Given the description of an element on the screen output the (x, y) to click on. 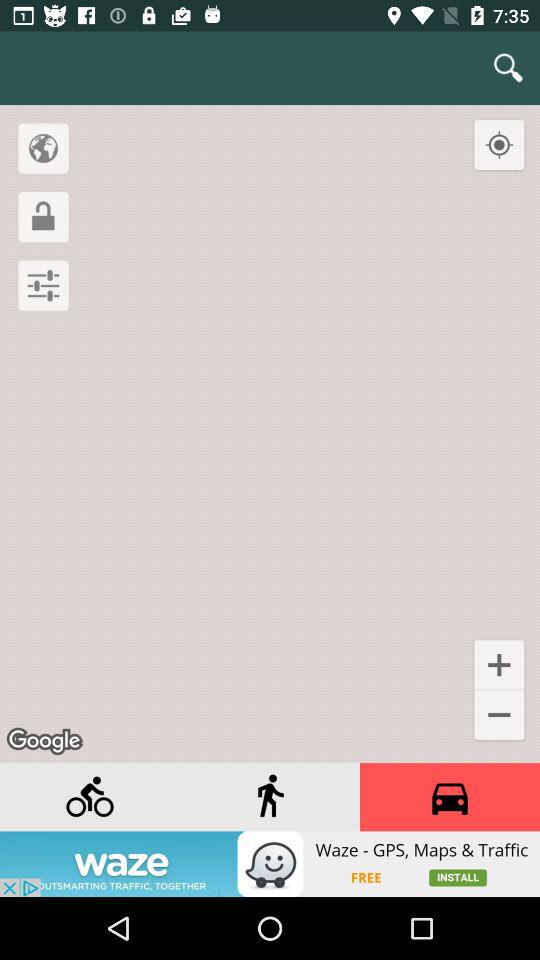
car (450, 797)
